Given the description of an element on the screen output the (x, y) to click on. 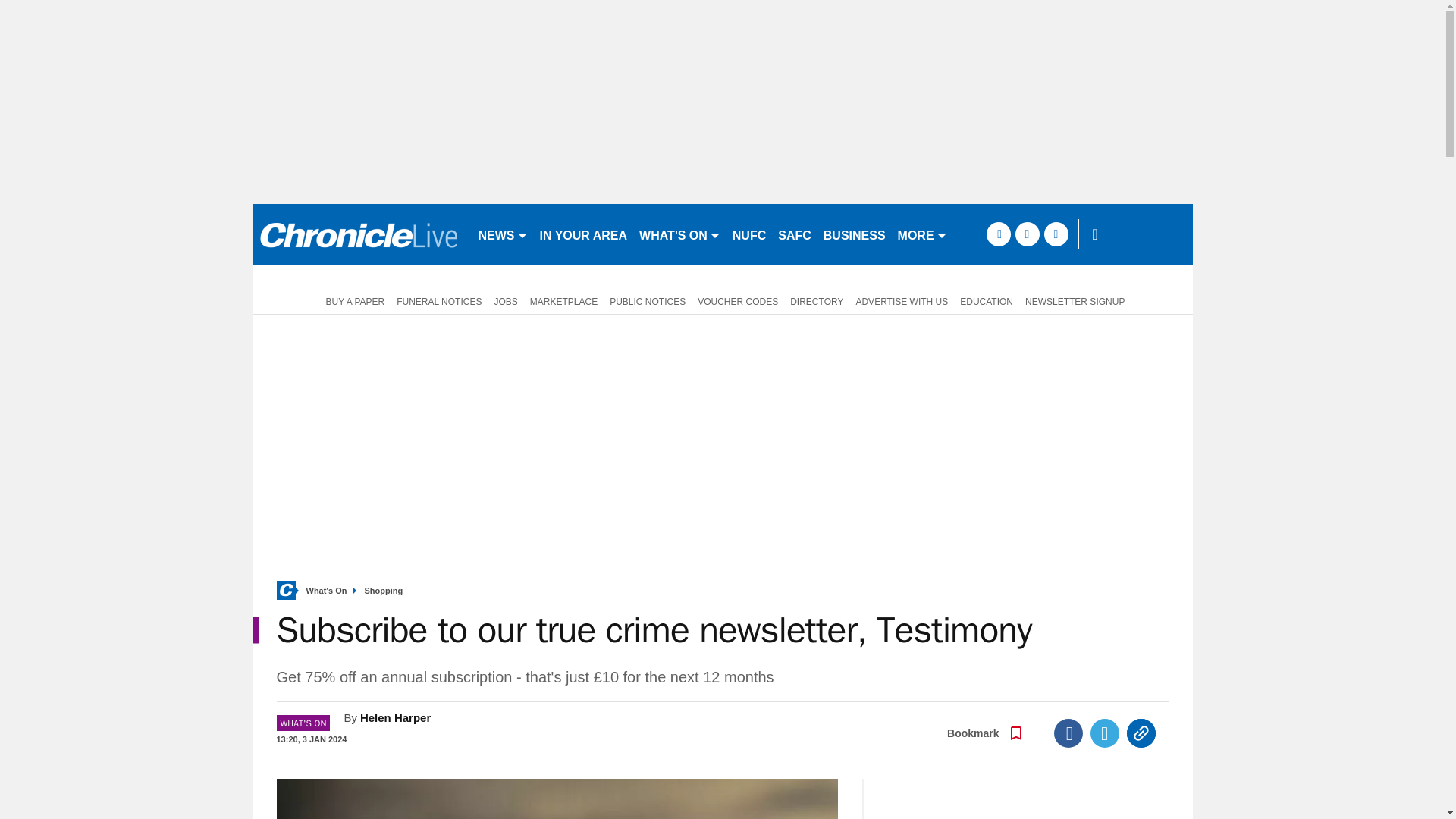
NEWS (501, 233)
nechronicle (357, 233)
facebook (997, 233)
Facebook (1068, 733)
MORE (922, 233)
BUSINESS (853, 233)
Twitter (1104, 733)
WHAT'S ON (679, 233)
IN YOUR AREA (583, 233)
twitter (1026, 233)
